Given the description of an element on the screen output the (x, y) to click on. 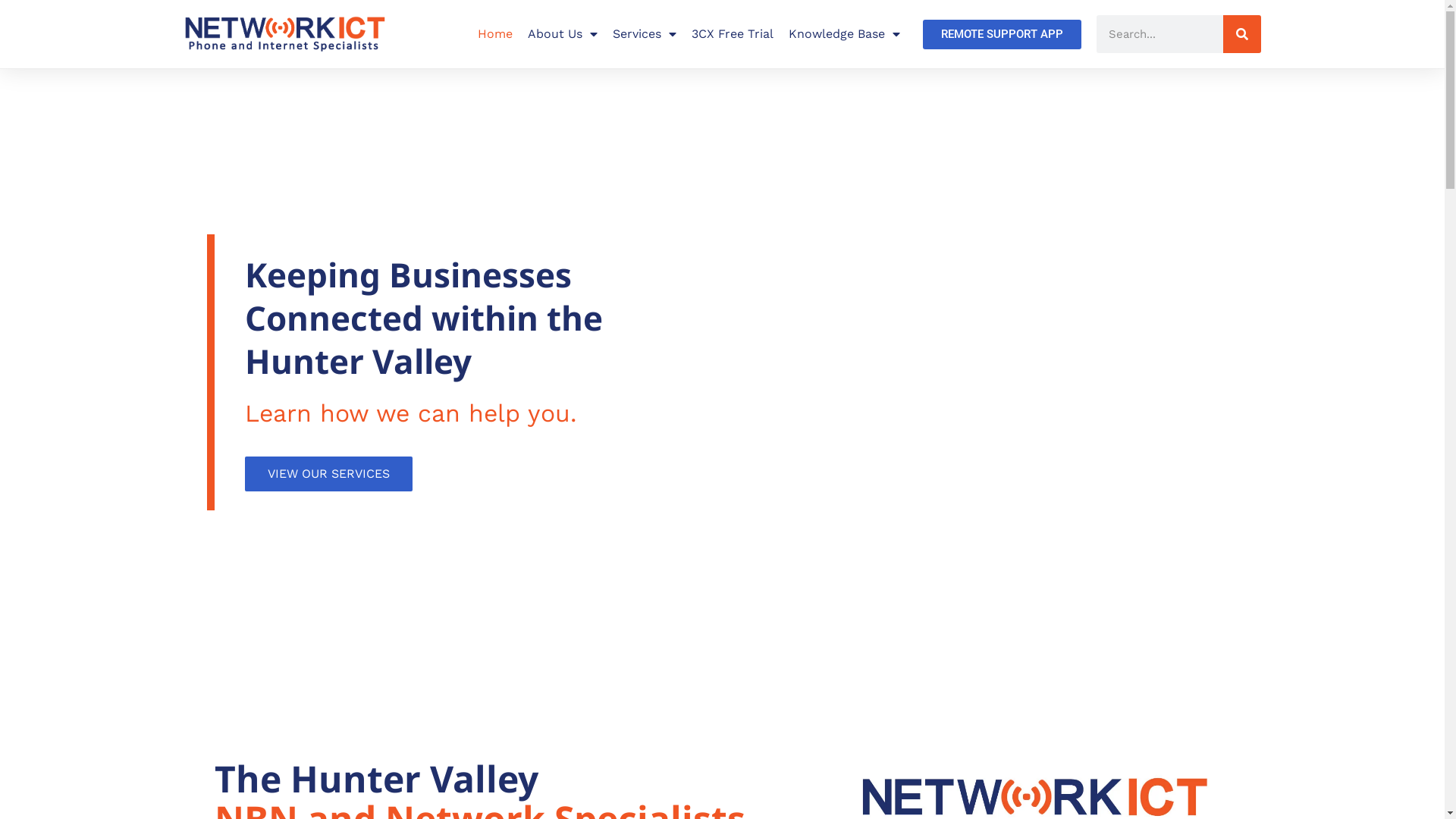
REMOTE SUPPORT APP Element type: text (1001, 34)
3CX Free Trial Element type: text (732, 33)
Services Element type: text (644, 33)
Knowledge Base Element type: text (844, 33)
About Us Element type: text (562, 33)
Home Element type: text (495, 33)
VIEW OUR SERVICES Element type: text (327, 473)
